Given the description of an element on the screen output the (x, y) to click on. 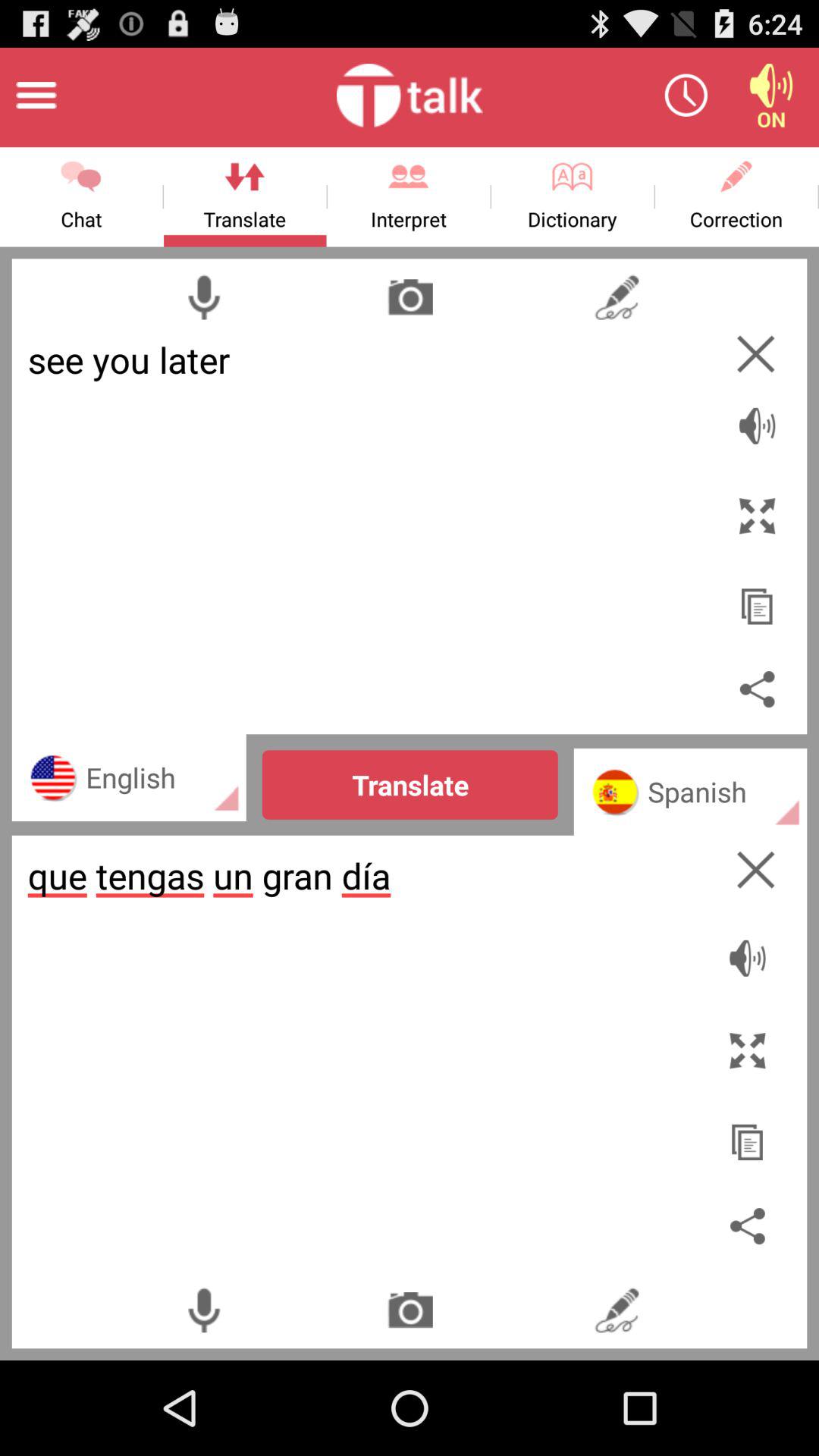
close the window (755, 869)
